Given the description of an element on the screen output the (x, y) to click on. 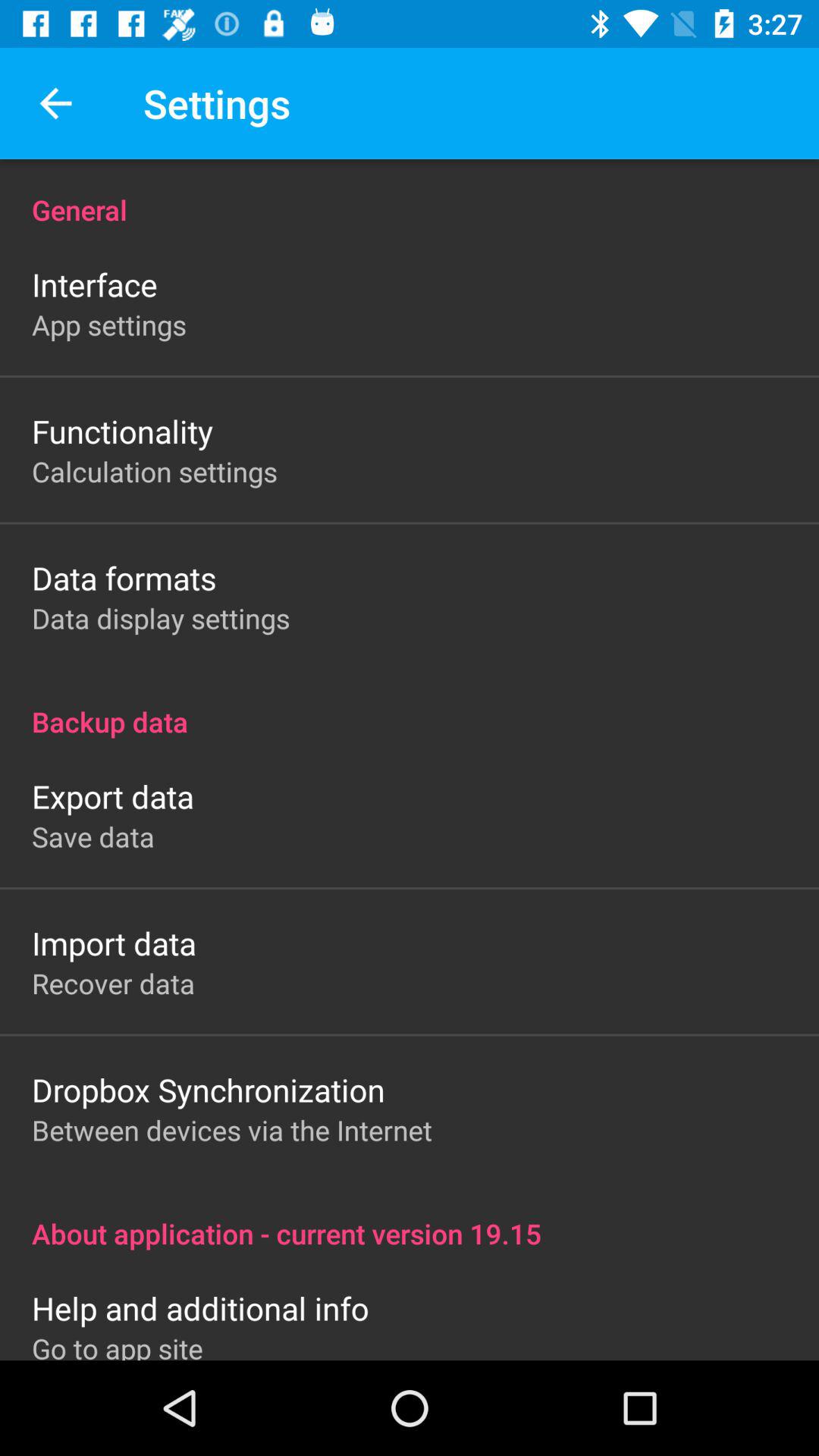
choose between devices via item (231, 1129)
